Given the description of an element on the screen output the (x, y) to click on. 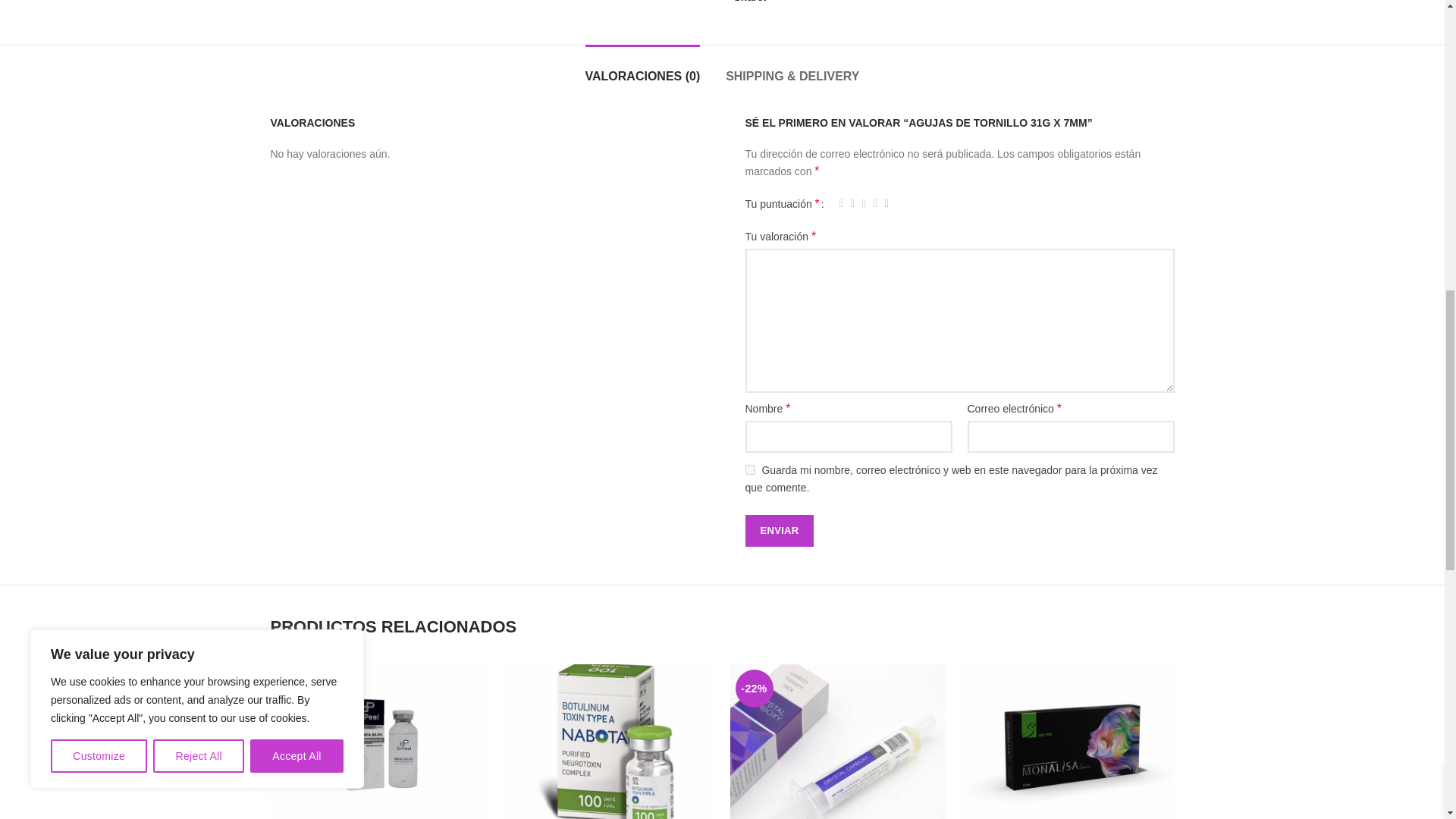
yes (749, 470)
Enviar (778, 531)
